Given the description of an element on the screen output the (x, y) to click on. 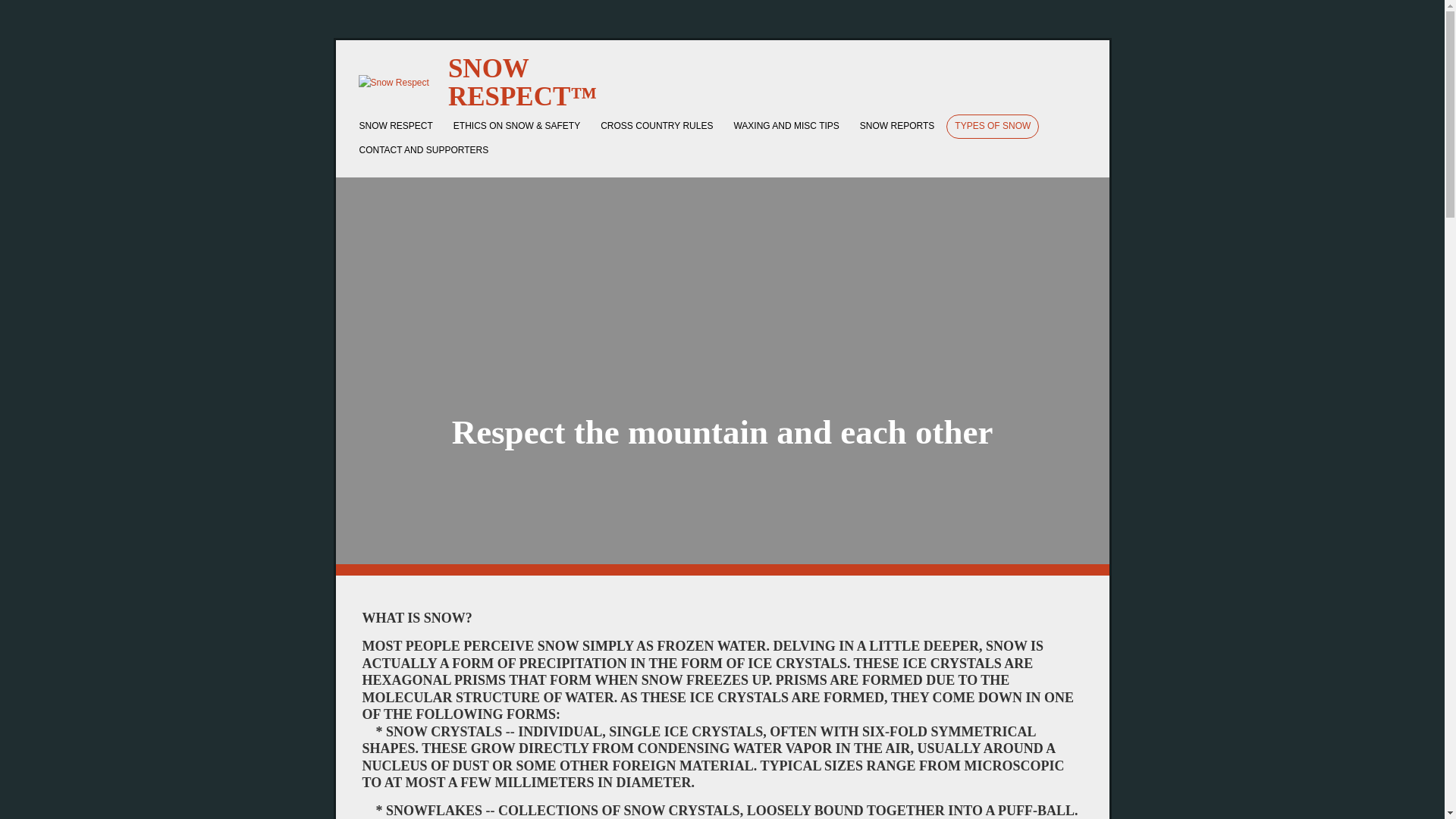
CROSS COUNTRY RULES (656, 126)
SNOW REPORTS (896, 126)
SNOW RESPECT (395, 126)
Snow Respect (393, 83)
TYPES OF SNOW (992, 126)
WAXING AND MISC TIPS (786, 126)
CONTACT AND SUPPORTERS (423, 150)
